Given the description of an element on the screen output the (x, y) to click on. 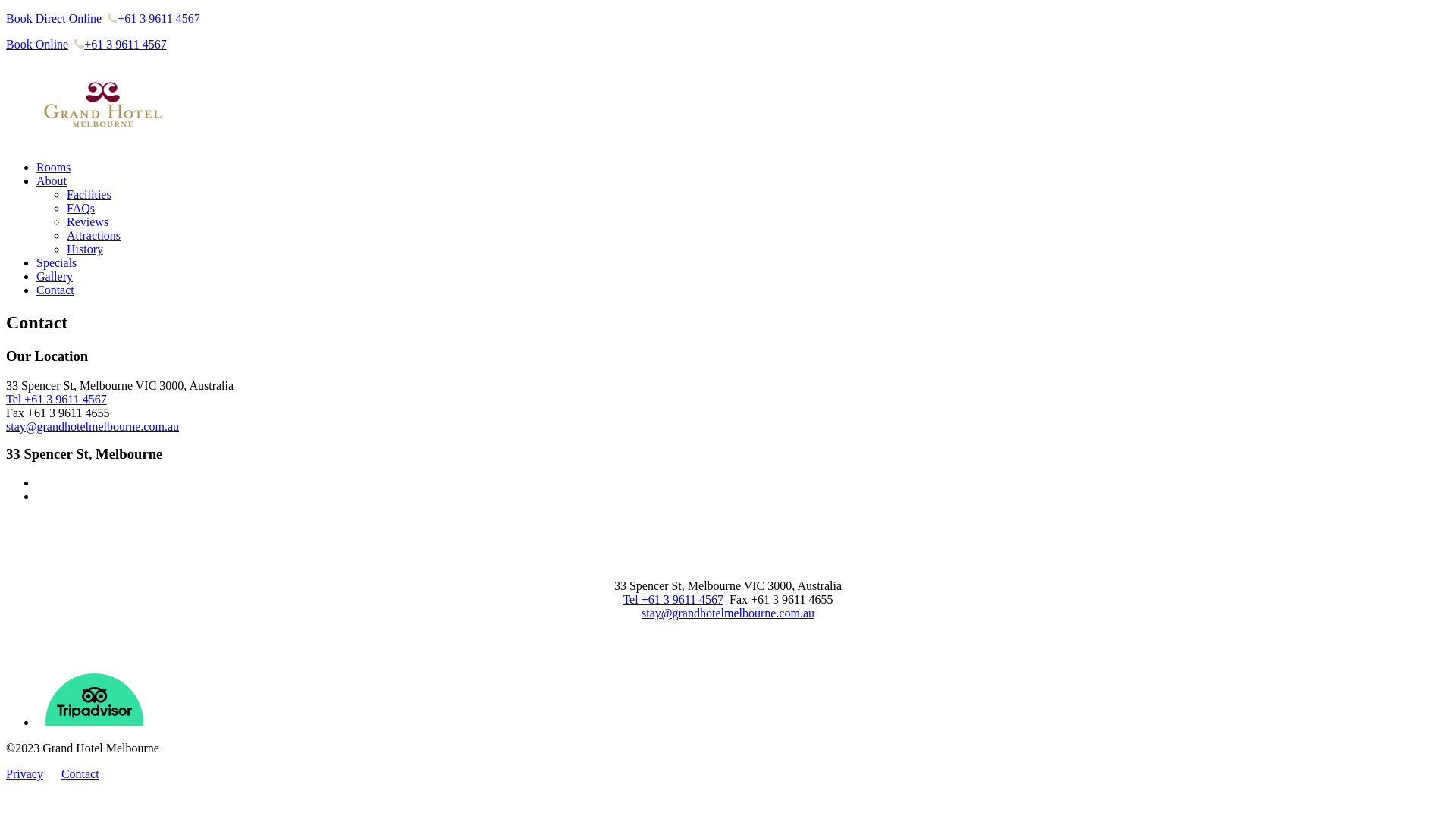
Contact Element type: text (80, 773)
FAQs Element type: text (80, 207)
Tel +61 3 9611 4567 Element type: text (56, 398)
Contact Element type: text (55, 289)
Reviews Element type: text (87, 221)
Privacy Element type: text (24, 773)
stay@grandhotelmelbourne.com.au Element type: text (92, 426)
logo-white-grand-hotel-melbourne Element type: hover (68, 539)
History Element type: text (84, 248)
Gallery Element type: text (54, 275)
+61 3 9611 4567 Element type: text (153, 18)
Attractions Element type: text (93, 235)
+61 3 9611 4567 Element type: text (120, 43)
Book Online Element type: text (37, 43)
Tel +61 3 9611 4567 Element type: text (672, 599)
About Element type: text (51, 180)
Specials Element type: text (56, 262)
Facilities Element type: text (88, 194)
Rooms Element type: text (53, 166)
Book Direct Online Element type: text (53, 18)
stay@grandhotelmelbourne.com.au Element type: text (727, 612)
